Given the description of an element on the screen output the (x, y) to click on. 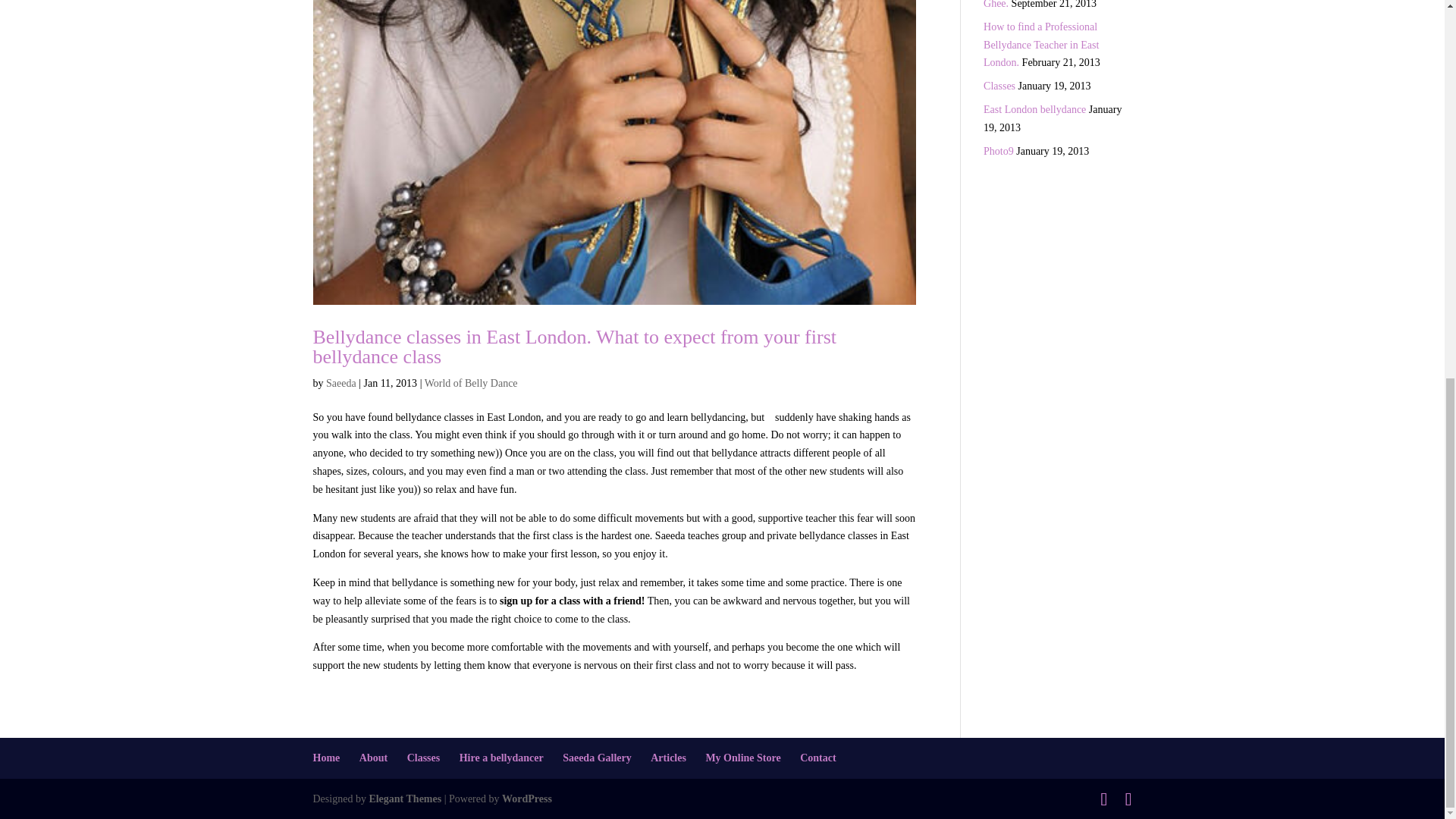
Classes (999, 85)
Posts by Saeeda (341, 383)
Premium WordPress Themes (404, 798)
Why bellydancers should eat Ghee. (1045, 4)
Saeeda (341, 383)
World of Belly Dance (471, 383)
